Given the description of an element on the screen output the (x, y) to click on. 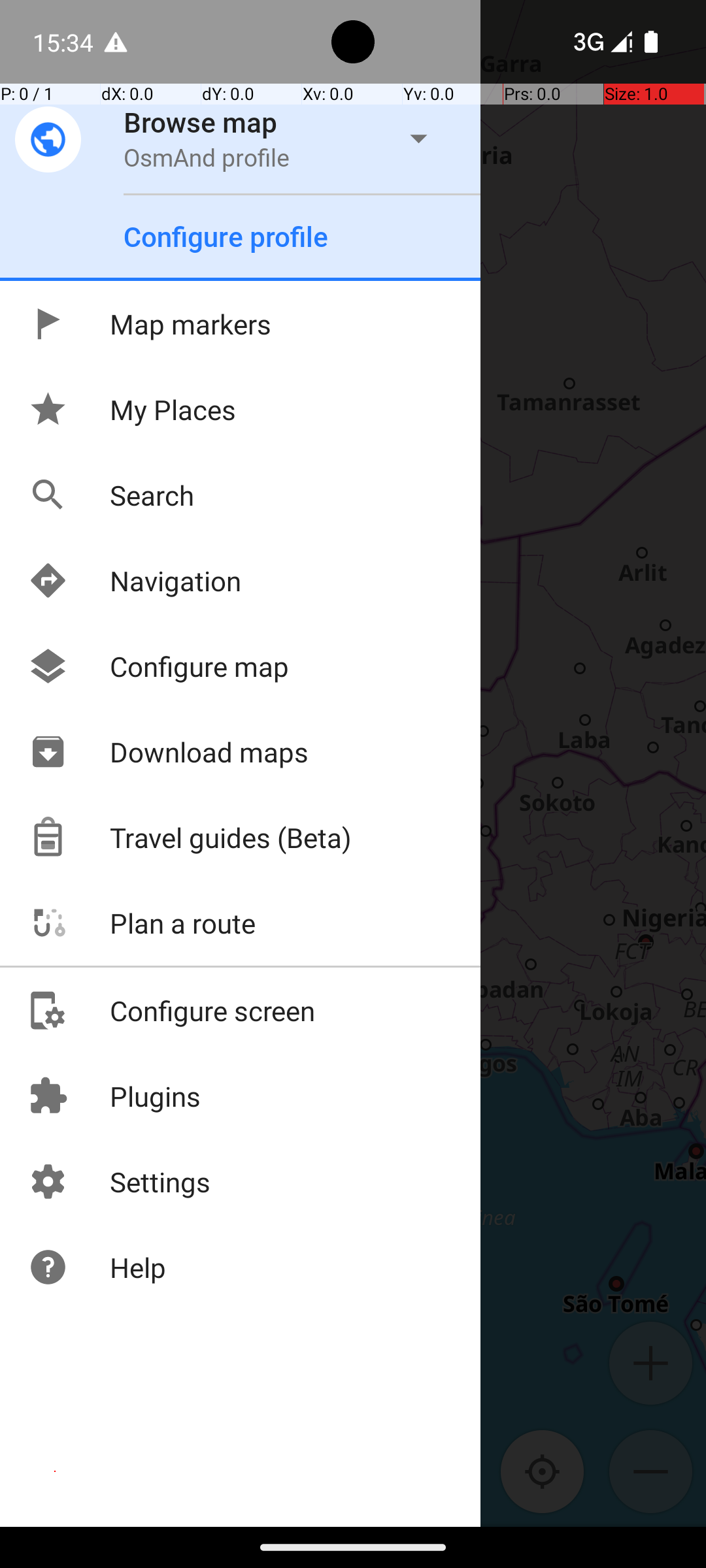
Browse map Element type: android.widget.TextView (200, 121)
OsmAnd profile Element type: android.widget.TextView (206, 156)
Configure profile Element type: android.widget.TextView (225, 235)
Map markers Element type: android.widget.TextView (149, 323)
My Places Element type: android.widget.TextView (131, 409)
Navigation Element type: android.widget.TextView (134, 580)
Download maps Element type: android.widget.TextView (168, 751)
Travel guides (Beta) Element type: android.widget.TextView (189, 837)
Plan a route Element type: android.widget.TextView (141, 922)
Configure screen Element type: android.widget.TextView (171, 1010)
Plugins Element type: android.widget.TextView (114, 1095)
Help Element type: android.widget.TextView (96, 1266)
